Given the description of an element on the screen output the (x, y) to click on. 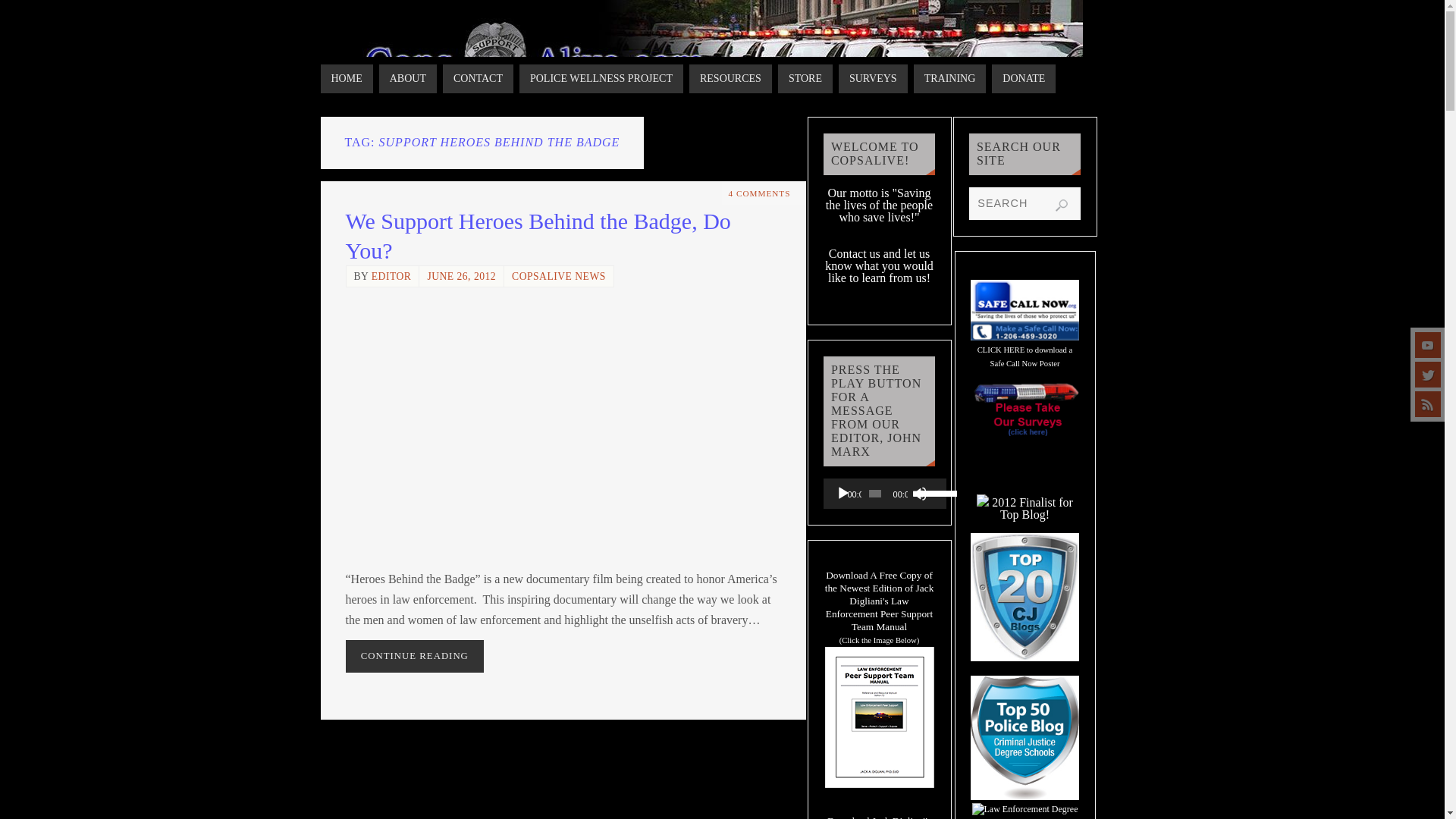
DONATE (1023, 78)
EDITOR (391, 276)
4 COMMENTS (759, 193)
RESOURCES (729, 78)
CONTINUE READING (415, 655)
JUNE 26, 2012 (461, 276)
STORE (804, 78)
HOME (346, 78)
We Support Heroes Behind the Badge, Do You? (538, 235)
RSS (1428, 403)
YouTube (1428, 344)
POLICE WELLNESS PROJECT (600, 78)
COPSALIVE NEWS (558, 276)
TRAINING (950, 78)
Permalink to We Support Heroes Behind the Badge, Do You? (538, 235)
